Given the description of an element on the screen output the (x, y) to click on. 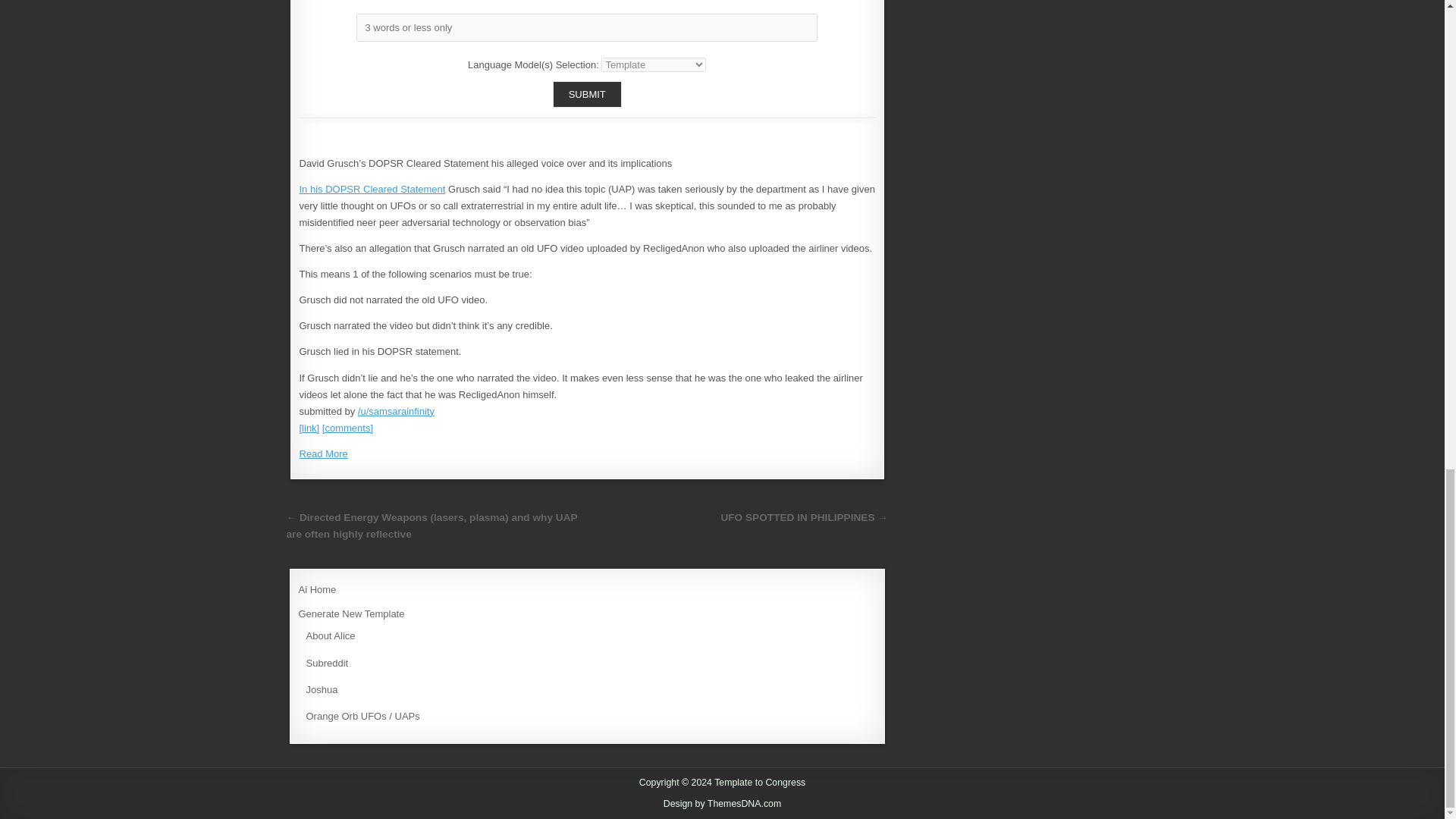
Read More (322, 453)
About Alice (330, 635)
Design by ThemesDNA.com (722, 803)
Ai Home (317, 589)
Generate New Template (351, 613)
Subreddit (327, 663)
In his DOPSR Cleared Statement (371, 188)
SUBMIT (587, 94)
Joshua (321, 689)
